Given the description of an element on the screen output the (x, y) to click on. 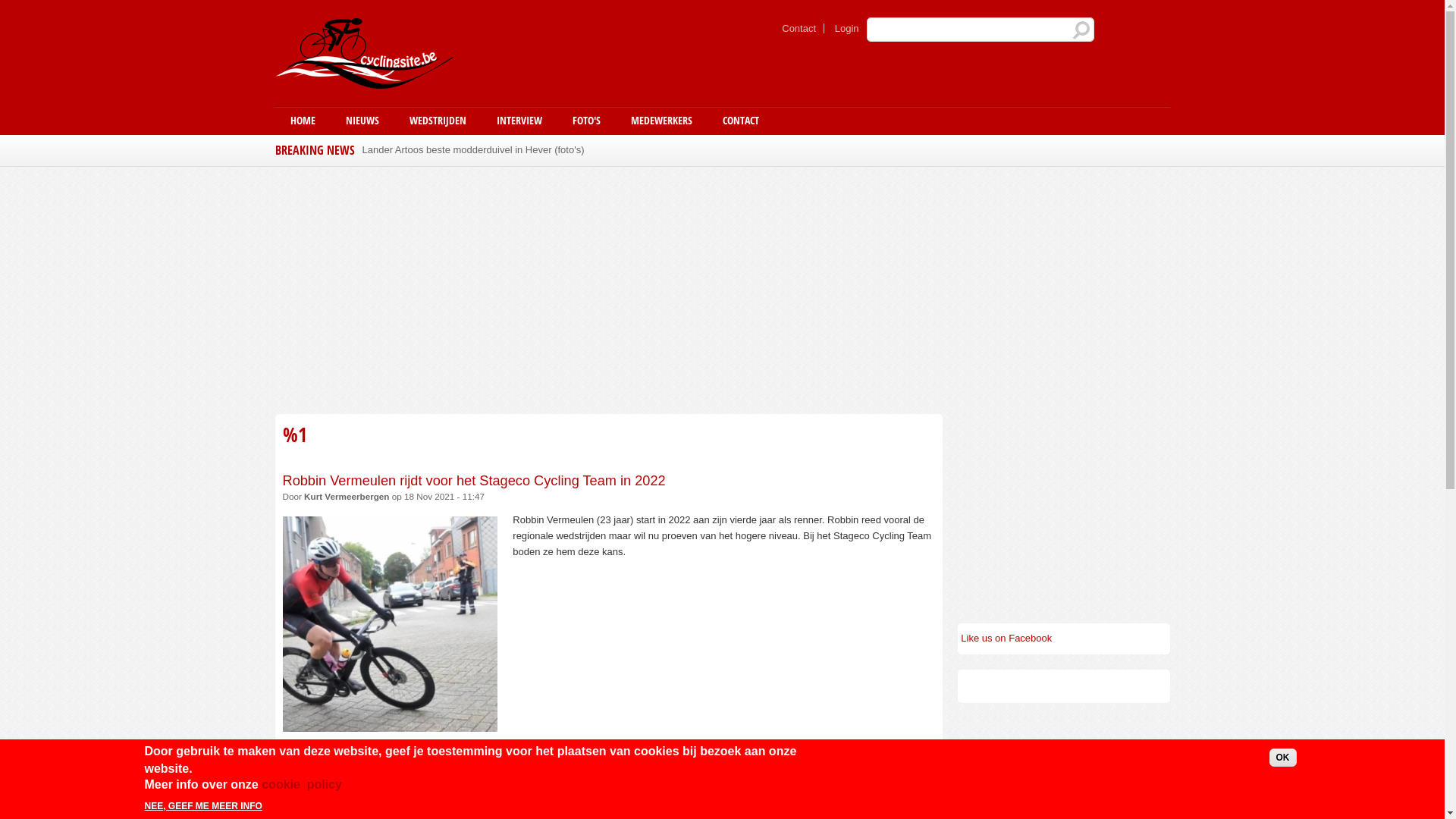
Advertisement Element type: hover (1063, 508)
Contact Element type: text (799, 28)
Robbin Vermeulen Element type: text (330, 748)
transfer 2022 Element type: text (422, 748)
Lander Artoos beste modderduivel in Hever (foto's) Element type: text (473, 146)
HOME Element type: text (301, 120)
NEE, GEEF ME MEER INFO Element type: text (202, 805)
Robbin Vermeulen rijdt voor het Stageco Cycling Team in 2022 Element type: text (473, 480)
Advertisement Element type: hover (607, 288)
OK Element type: text (1282, 757)
WEDSTRIJDEN Element type: text (437, 120)
CONTACT Element type: text (739, 120)
NIEUWS Element type: text (362, 120)
MEDEWERKERS Element type: text (661, 120)
Zoeken Element type: text (1081, 30)
INTERVIEW Element type: text (518, 120)
Like us on Facebook Element type: text (1005, 637)
cookie  policy Element type: text (301, 784)
Geef de woorden op waarnaar u wilt zoeken. Element type: hover (979, 29)
FOTO'S Element type: text (585, 120)
Overslaan en naar de inhoud gaan Element type: text (677, 1)
Login Element type: text (846, 28)
